Given the description of an element on the screen output the (x, y) to click on. 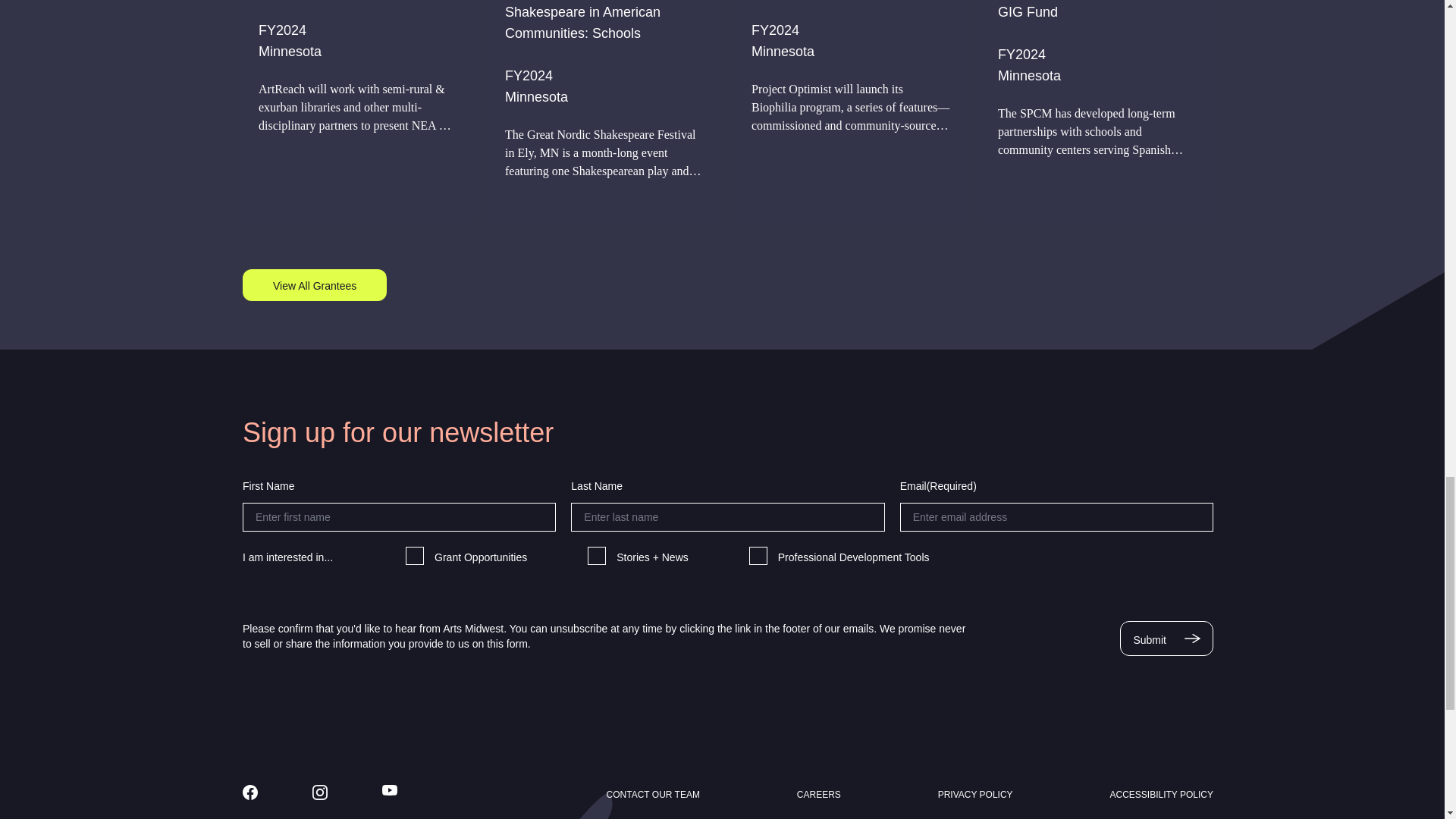
Professional Development Tools (758, 556)
Careers (818, 794)
Privacy Policy (975, 794)
Accessibility Policy (1160, 794)
Follow us on Facebook (250, 792)
Follow us on Youtube (389, 789)
Grant Opportunities (414, 556)
Contact Our Team (653, 794)
Follow us on Instagram (320, 792)
